Given the description of an element on the screen output the (x, y) to click on. 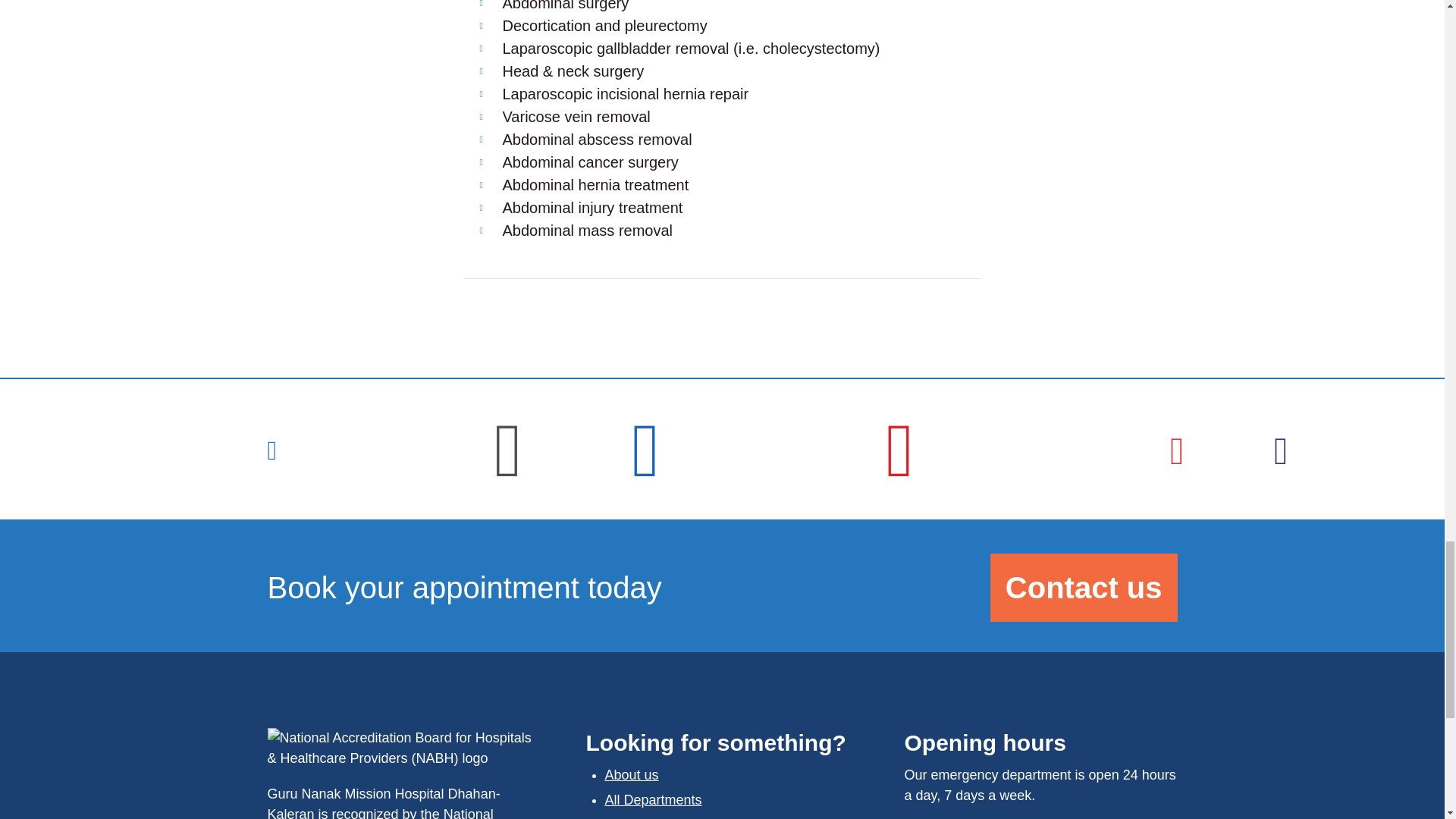
All Departments (653, 799)
Contact us (1083, 587)
About us (632, 774)
All Doctors (638, 818)
